Given the description of an element on the screen output the (x, y) to click on. 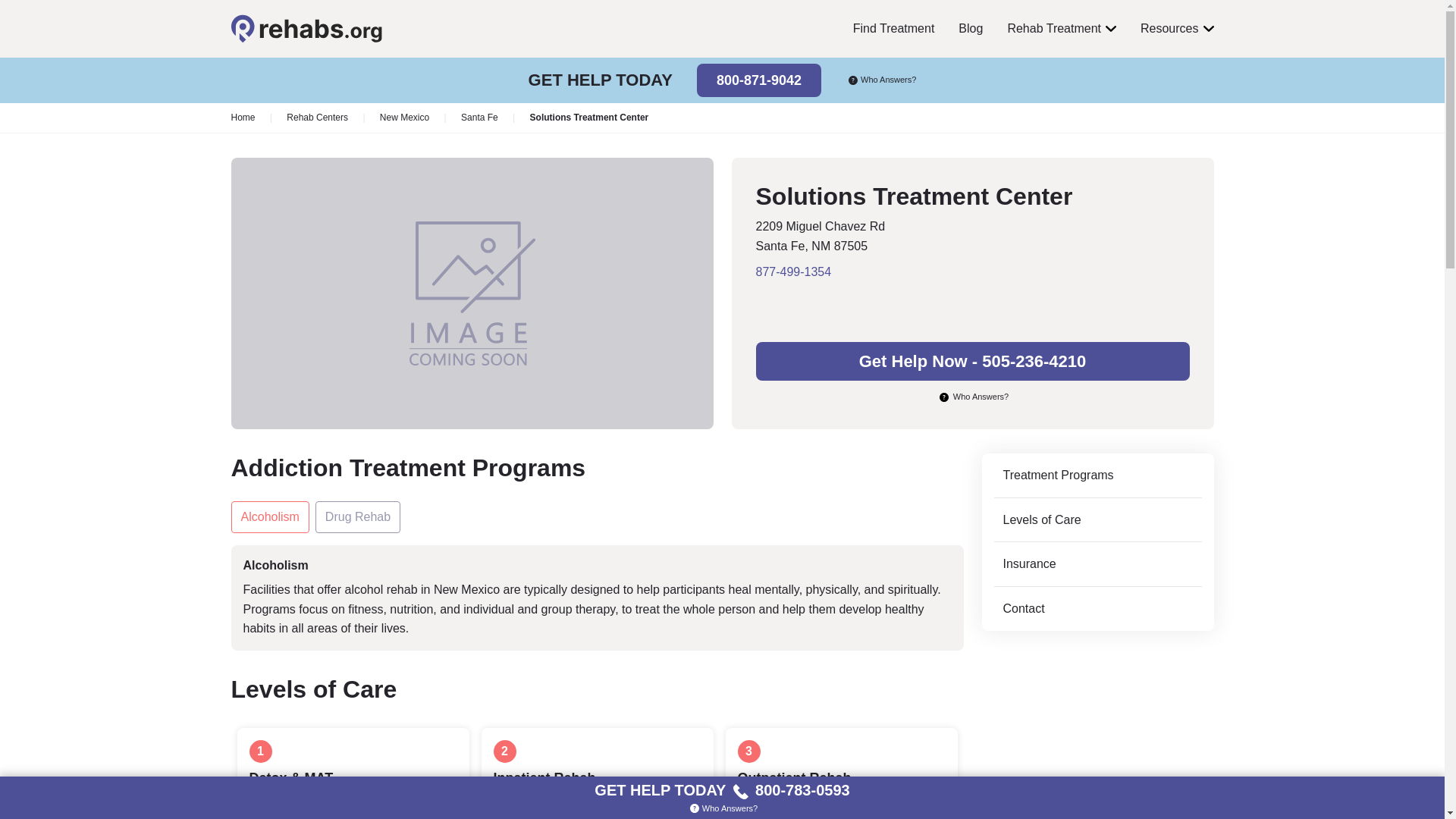
Santa Fe (479, 117)
Rehab Treatment (1061, 28)
New Mexico (404, 117)
Resources (1176, 28)
877-499-1354 (972, 271)
800-871-9042 (759, 80)
Get Help Now - 505-236-4210 (972, 361)
Rehab Centers (316, 117)
Find Treatment (893, 28)
